Given the description of an element on the screen output the (x, y) to click on. 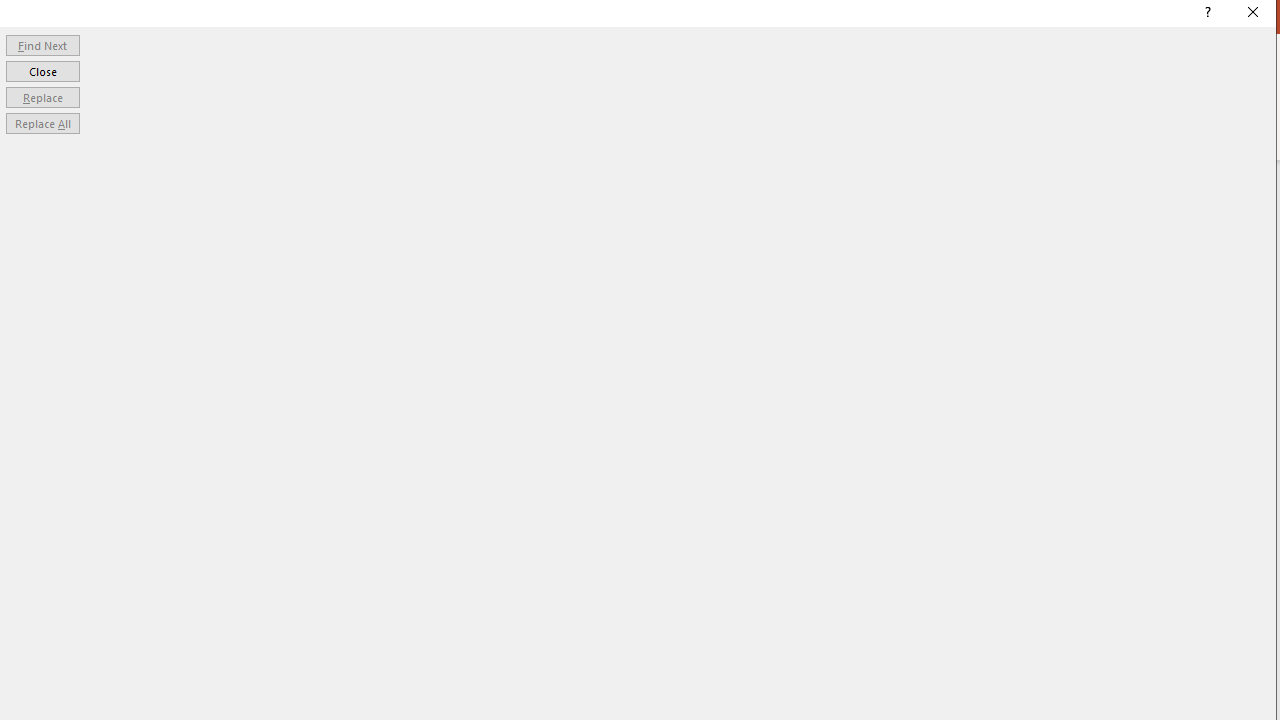
Replace (42, 96)
Replace All (42, 123)
Find Next (42, 44)
Context help (1206, 14)
